Given the description of an element on the screen output the (x, y) to click on. 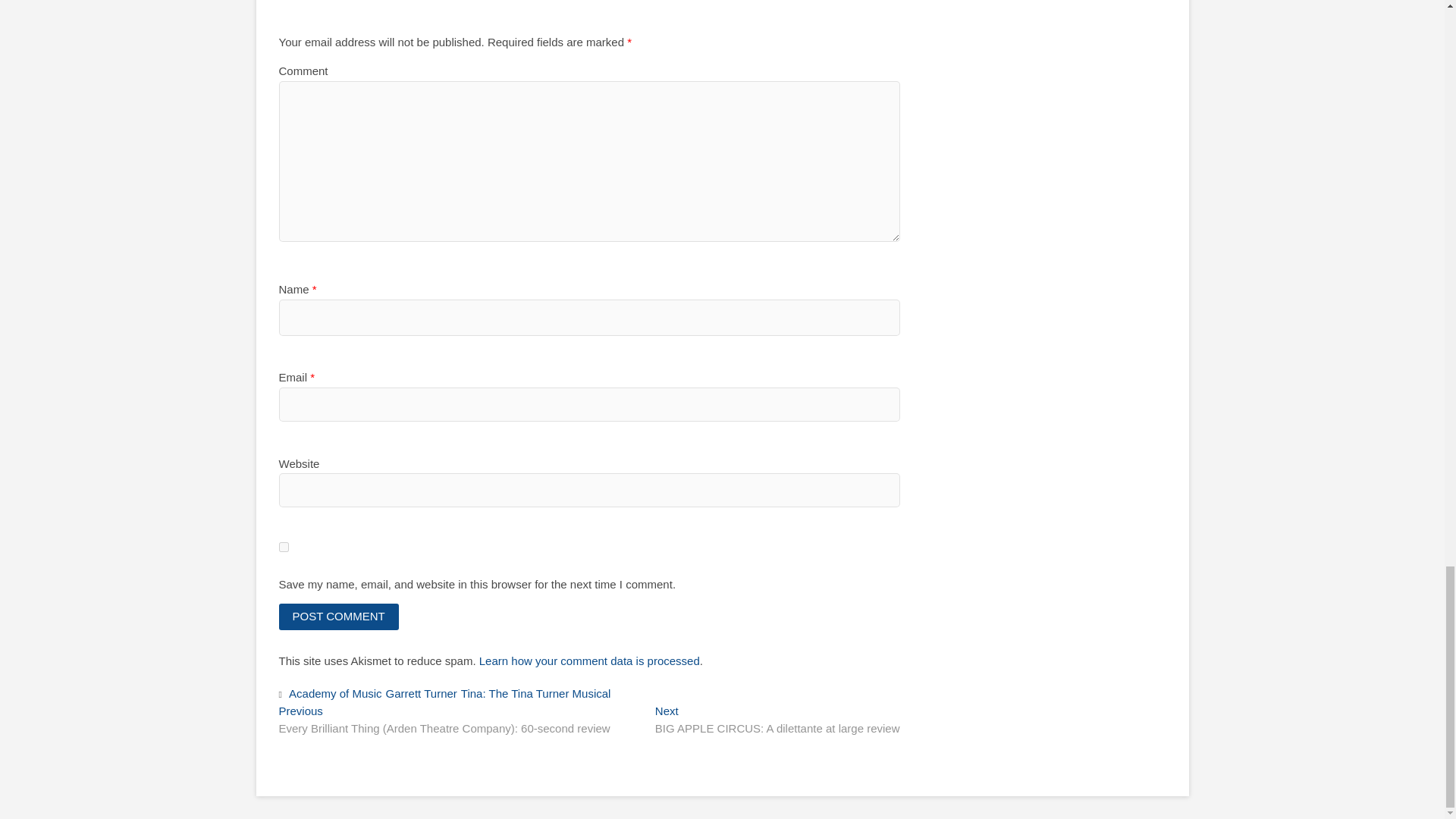
Academy of Music (336, 695)
Post Comment (338, 616)
Post Comment (338, 616)
Garrett Turner (423, 695)
yes (283, 547)
Learn how your comment data is processed (589, 660)
Tina: The Tina Turner Musical (537, 695)
